Given the description of an element on the screen output the (x, y) to click on. 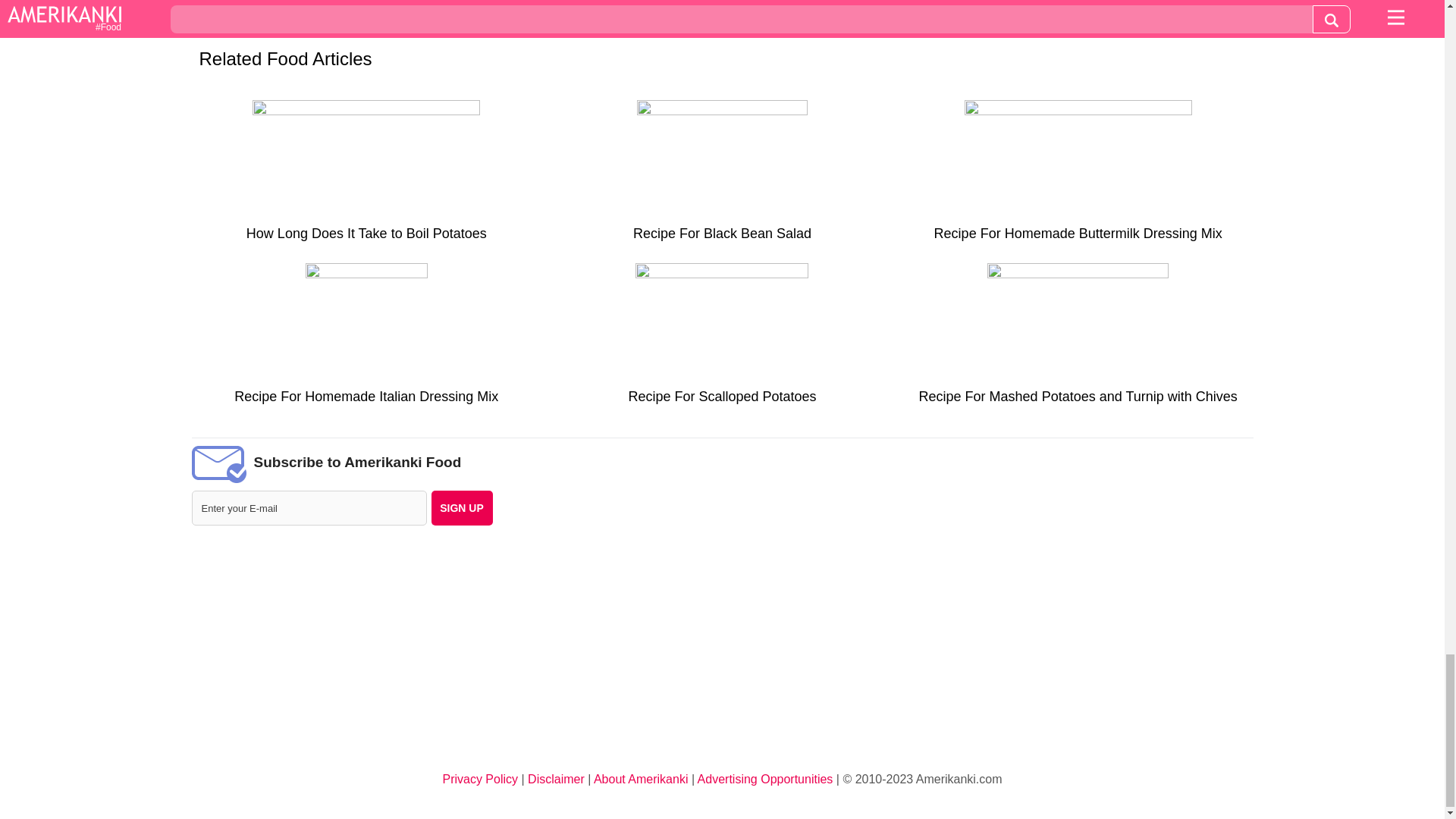
Recipe For Homemade Buttermilk Dressing Mix (1078, 176)
Submit Comment (515, 20)
Recipe For Homemade Italian Dressing Mix (366, 339)
Recipe For Mashed Potatoes and Turnip with Chives (1078, 339)
SIGN UP (461, 507)
Submit Comment (515, 20)
Enter your E-mail (308, 507)
How Long Does It Take to Boil Potatoes (366, 176)
Recipe For Black Bean Salad (721, 176)
Recipe For Scalloped Potatoes (721, 339)
